Given the description of an element on the screen output the (x, y) to click on. 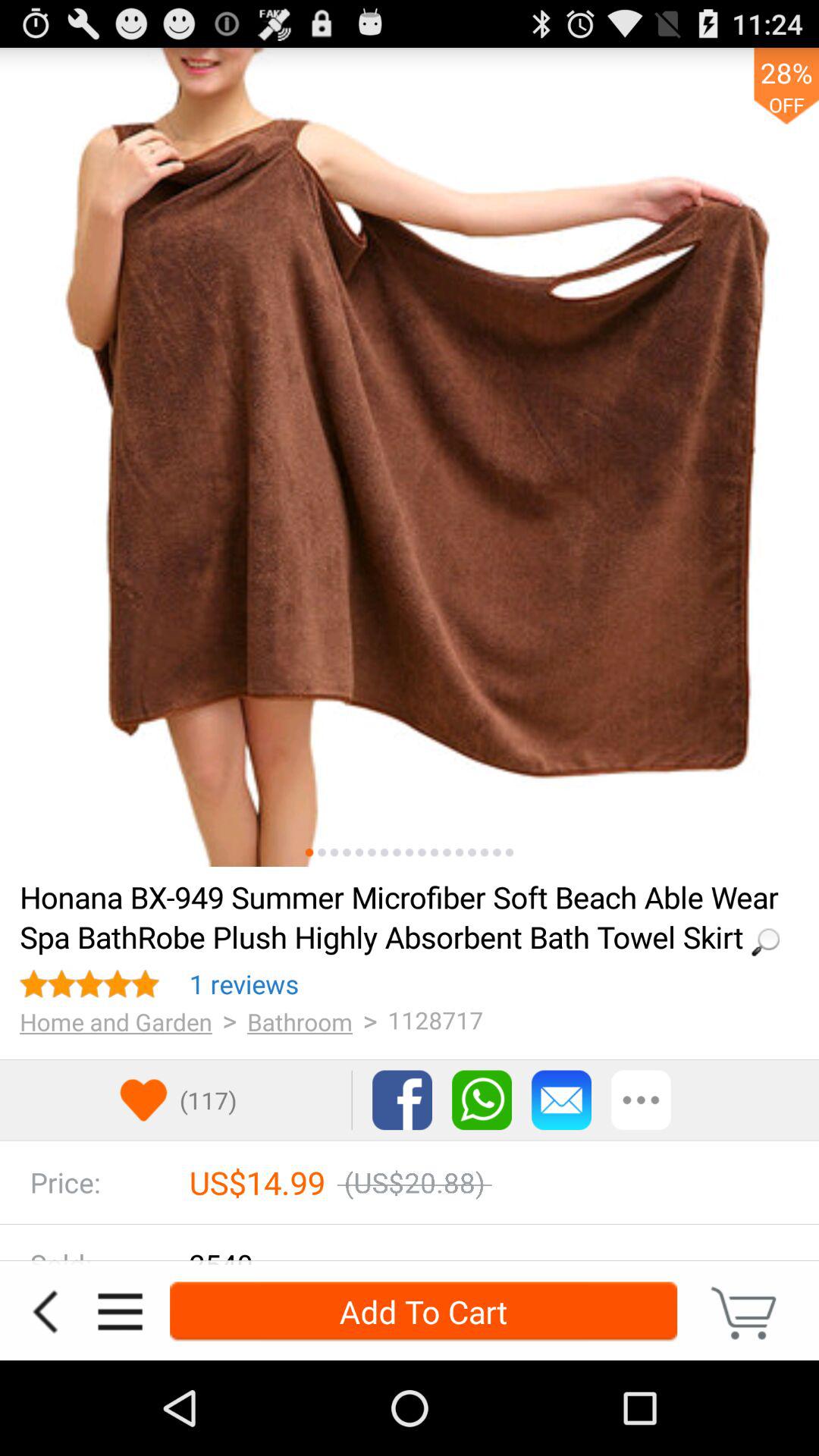
view picture (497, 852)
